Given the description of an element on the screen output the (x, y) to click on. 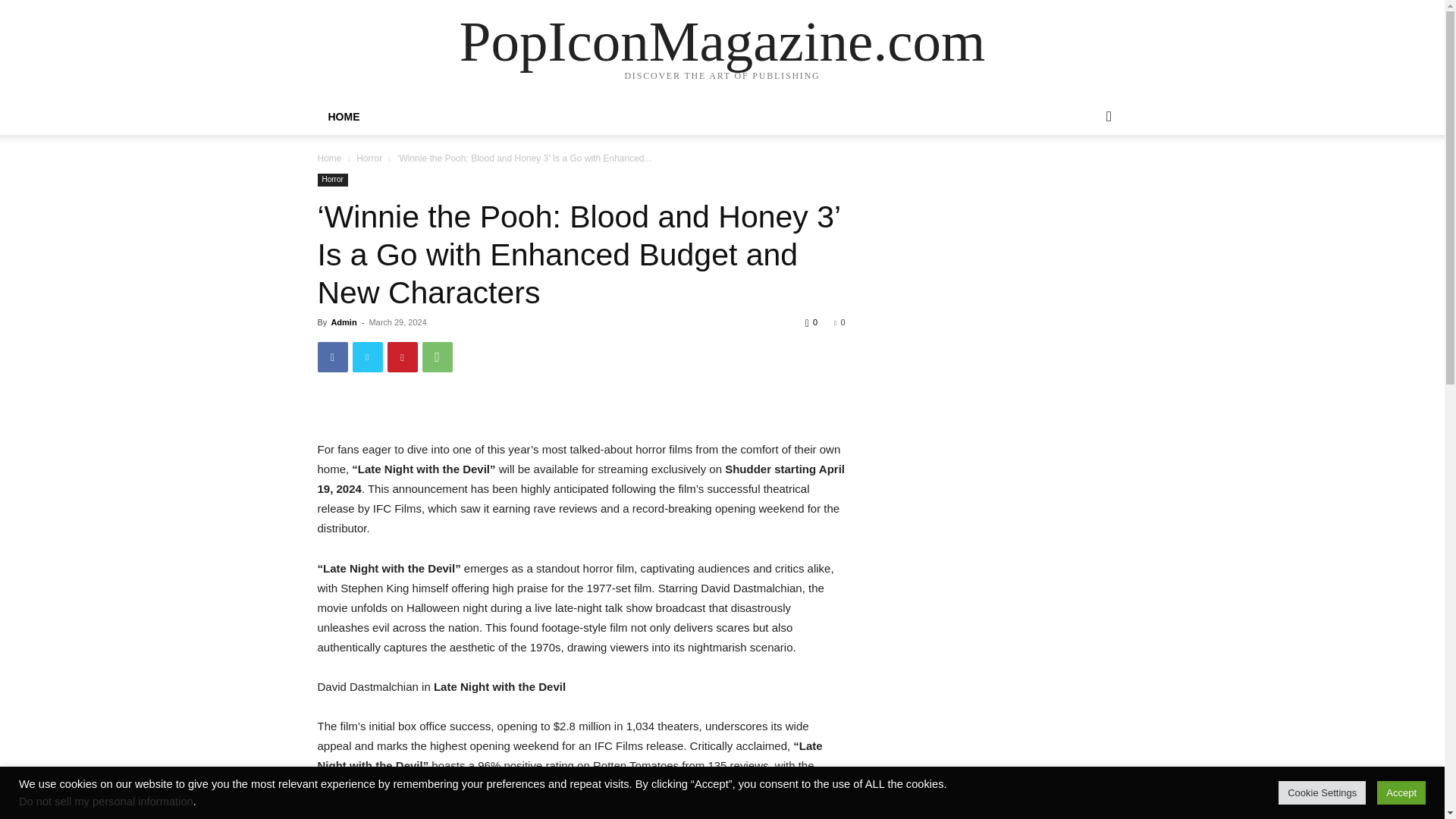
PopIconMagazine.com (722, 41)
Horror (332, 179)
Horror (368, 158)
HOME (343, 116)
Home (328, 158)
0 (839, 321)
Search (1085, 177)
Admin (343, 321)
